Given the description of an element on the screen output the (x, y) to click on. 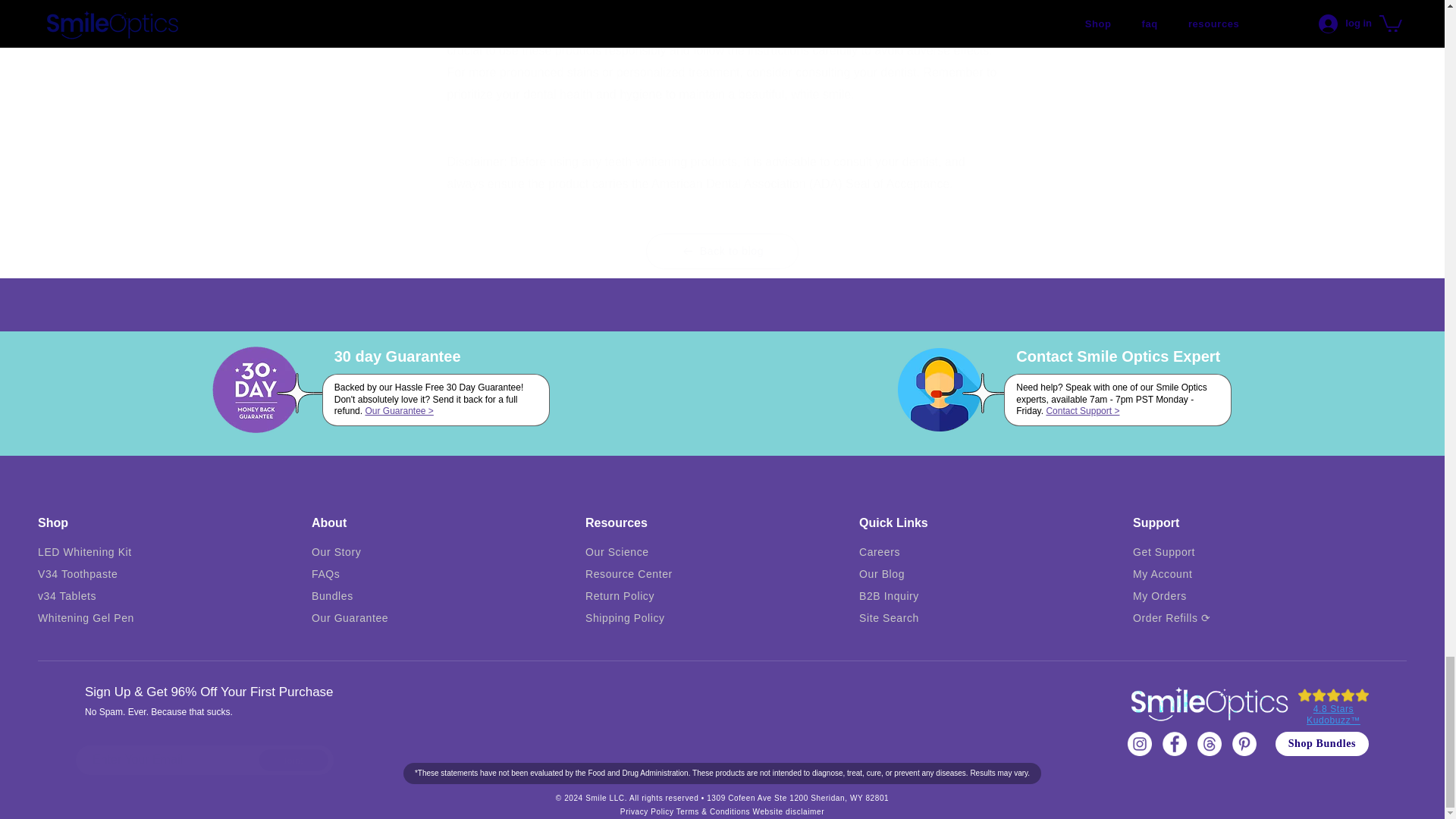
Back to blog (721, 251)
Join! (204, 759)
LED Whitening Kit (84, 551)
